Given the description of an element on the screen output the (x, y) to click on. 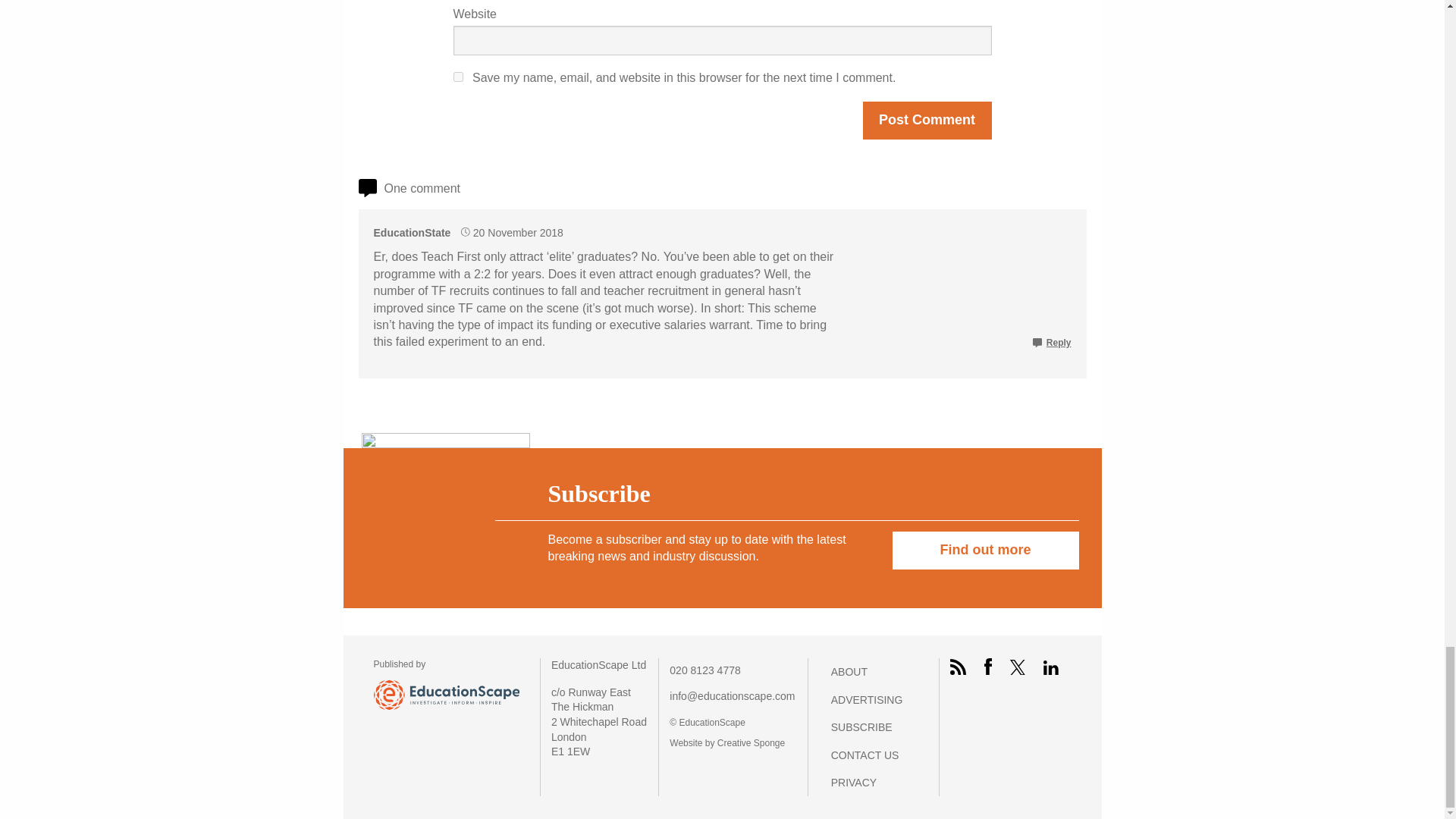
yes (457, 76)
Post Comment (927, 120)
